Given the description of an element on the screen output the (x, y) to click on. 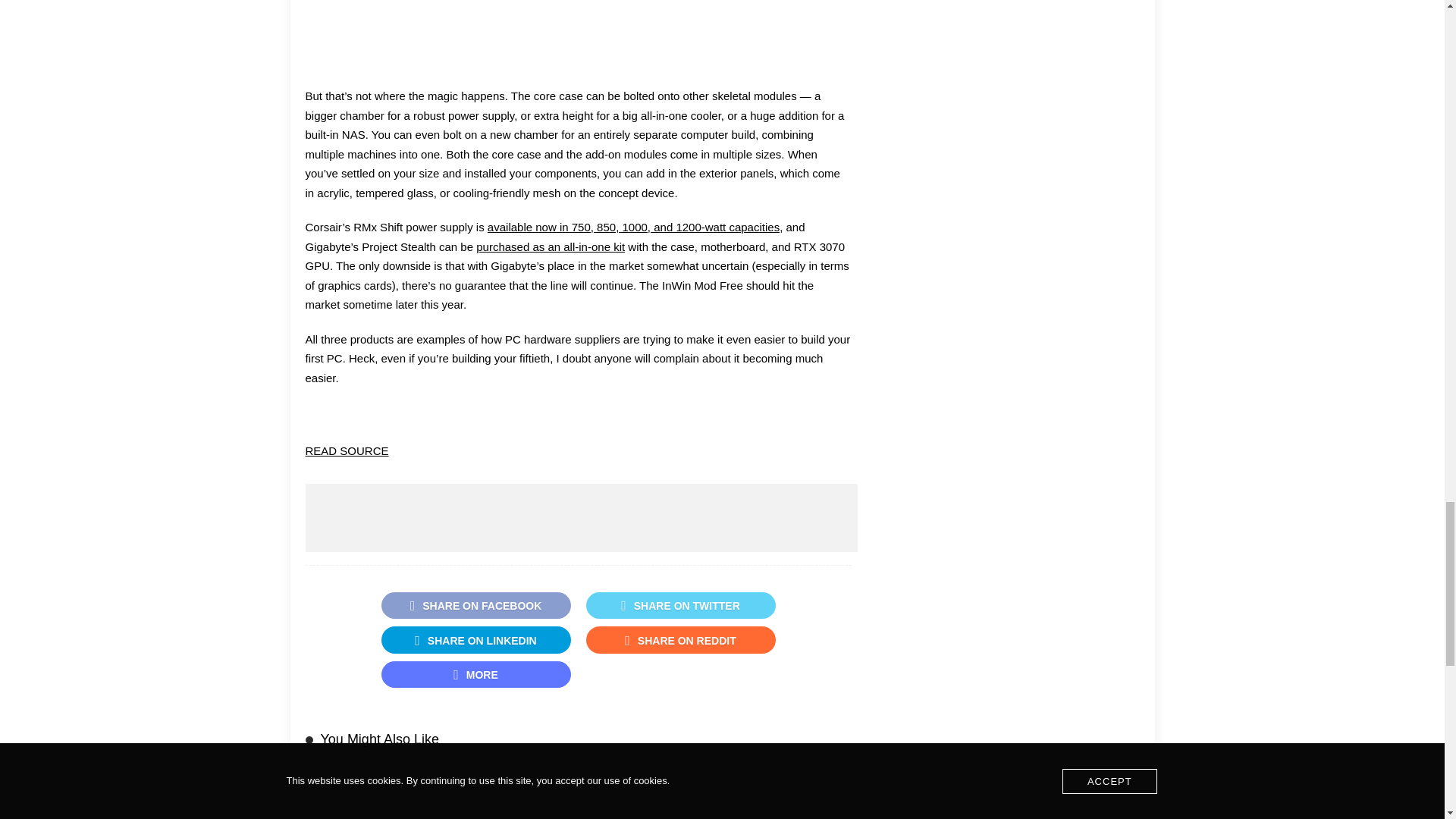
A Truly Modular PC Case (577, 13)
